Given the description of an element on the screen output the (x, y) to click on. 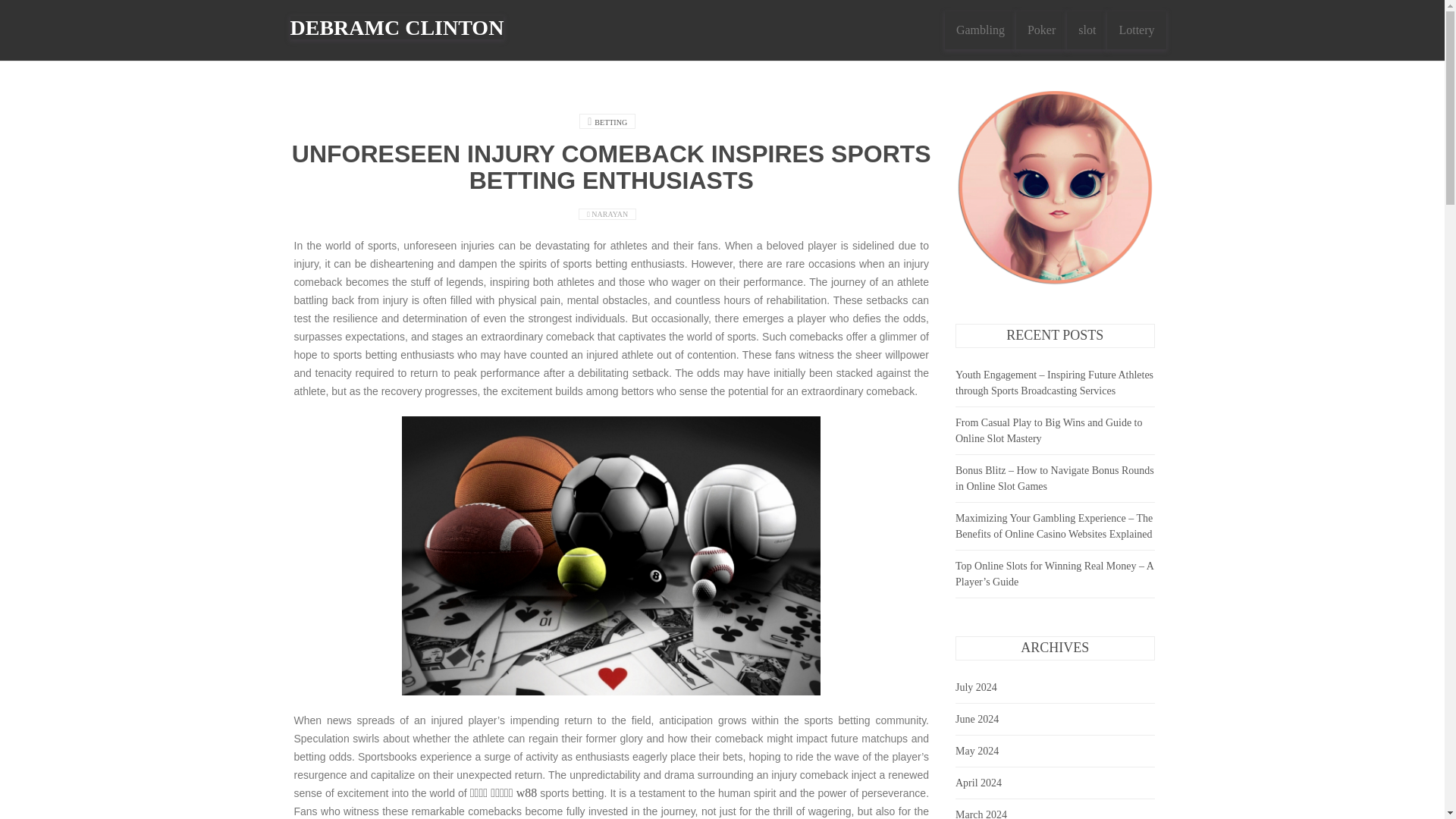
DEBRAMC CLINTON (396, 25)
Lottery (1136, 30)
BETTING (610, 121)
slot (1086, 30)
July 2024 (976, 686)
DEBRAMC CLINTON (396, 27)
slot (1086, 30)
Gambling (980, 30)
May 2024 (976, 750)
April 2024 (978, 782)
NARAYAN (610, 213)
Poker (1041, 30)
Lottery (1136, 30)
June 2024 (976, 718)
